Given the description of an element on the screen output the (x, y) to click on. 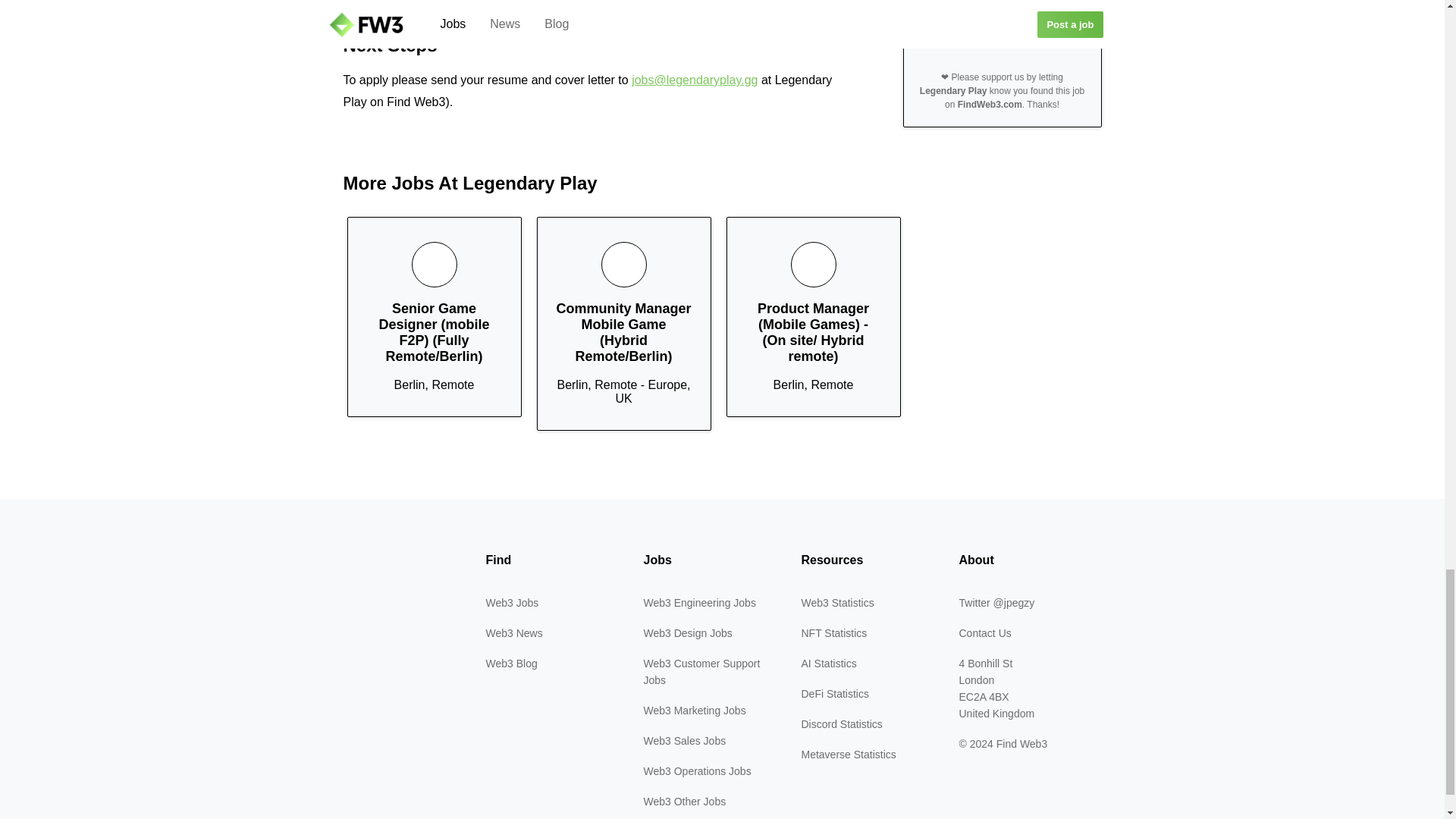
Web3 Customer Support Jobs (701, 671)
AI Statistics (828, 663)
Web3 Engineering Jobs (699, 603)
Web3 Blog (510, 663)
DeFi Statistics (833, 693)
Web3 Marketing Jobs (694, 710)
Contact Us (984, 633)
NFT Statistics (833, 633)
Web3 Design Jobs (687, 633)
Web3 Jobs (511, 603)
Web3 Statistics (836, 603)
Metaverse Statistics (847, 754)
Web3 Operations Jobs (697, 770)
Web3 News (512, 633)
Web3 Other Jobs (684, 801)
